Given the description of an element on the screen output the (x, y) to click on. 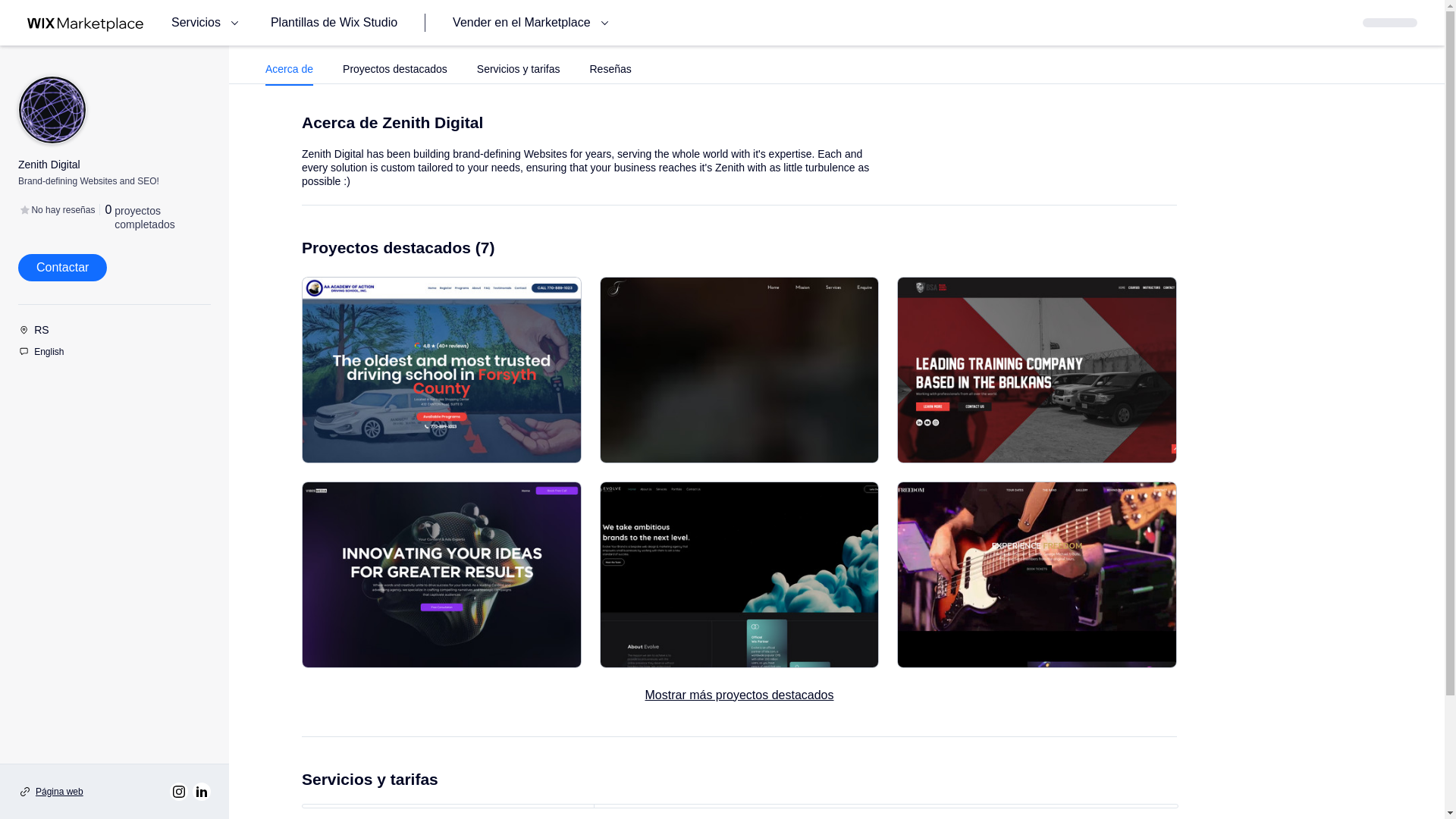
Vender en el Marketplace (532, 22)
Servicios (207, 22)
Plantillas de Wix Studio (333, 22)
